Given the description of an element on the screen output the (x, y) to click on. 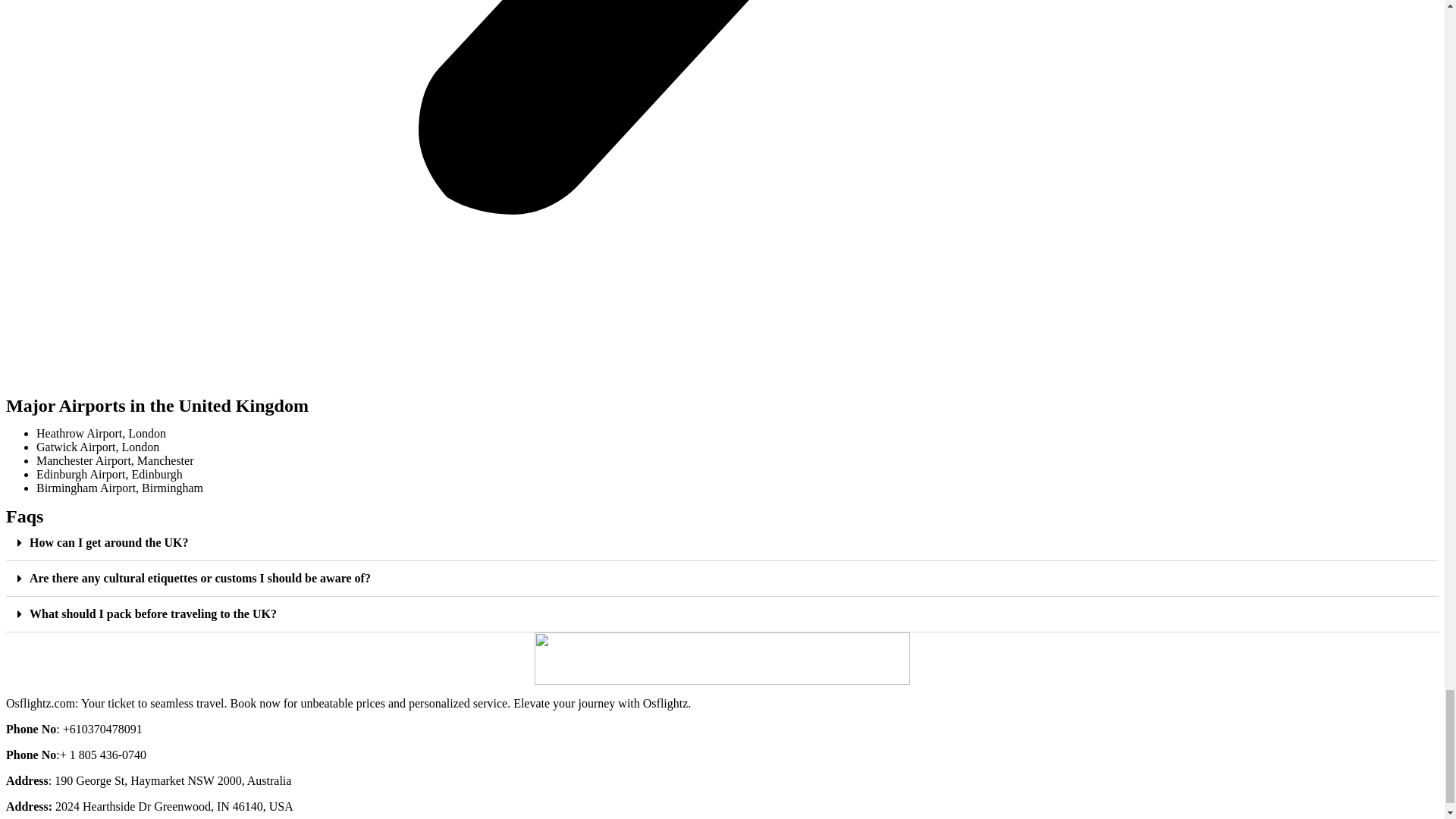
What should I pack before traveling to the UK? (152, 613)
How can I get around the UK? (109, 542)
